Given the description of an element on the screen output the (x, y) to click on. 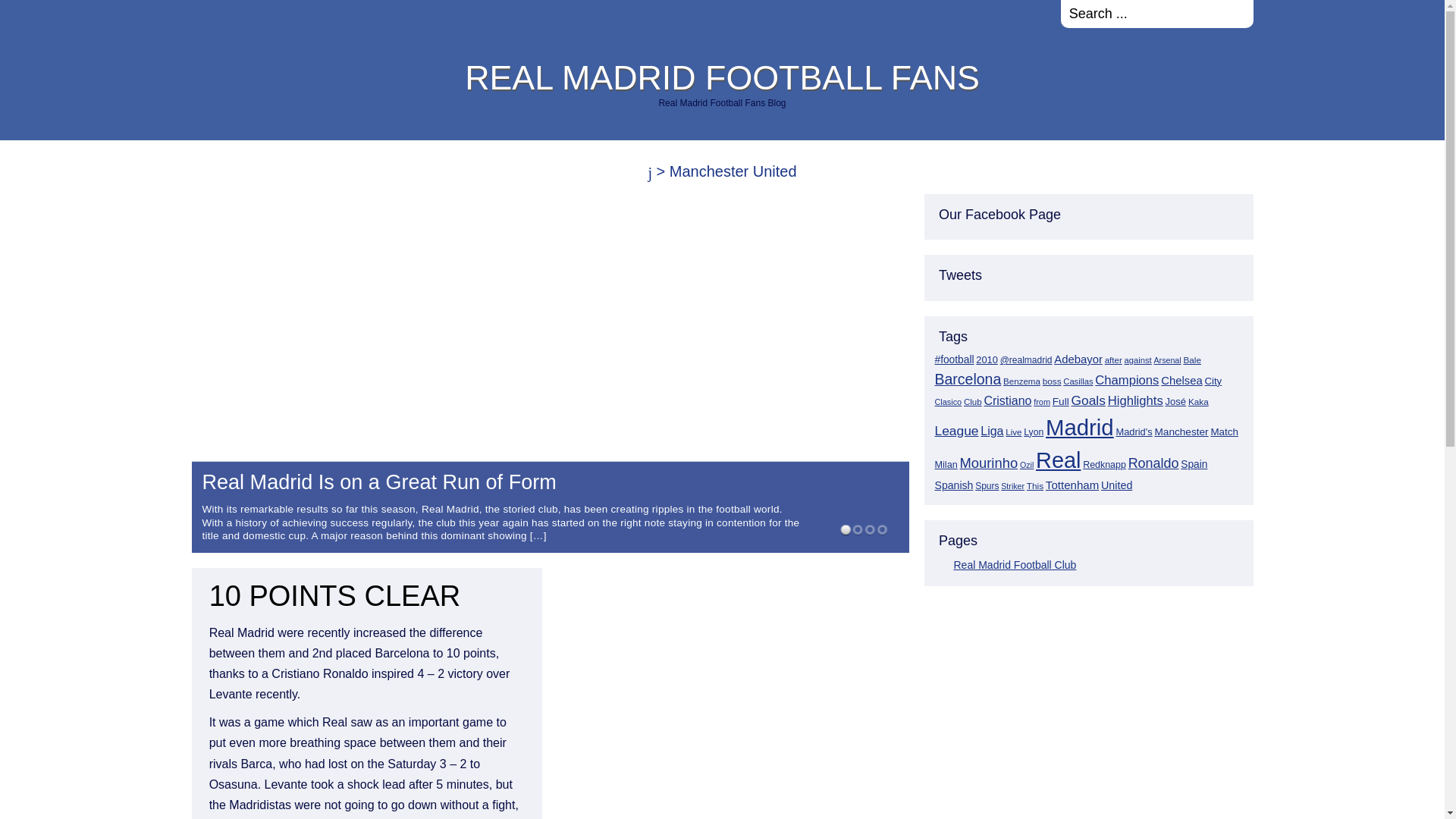
Madrid (1079, 426)
after (1113, 359)
Full (1060, 401)
Lyon (1033, 431)
Club (972, 401)
REAL MADRID FOOTBALL FANS (721, 77)
Champions (1126, 380)
Adebayor (1078, 358)
Chelsea (1181, 380)
Goals (1087, 400)
